Given the description of an element on the screen output the (x, y) to click on. 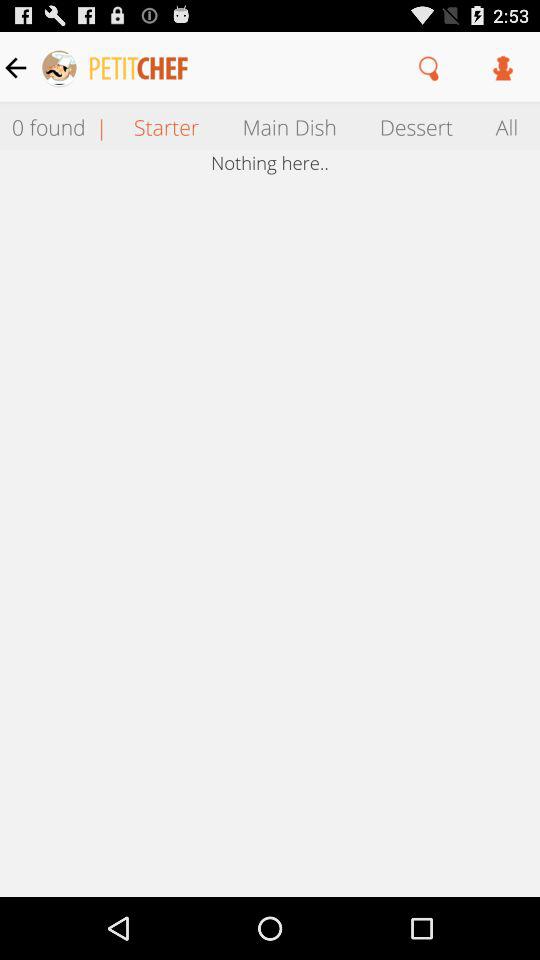
click the main dish icon (289, 126)
